Given the description of an element on the screen output the (x, y) to click on. 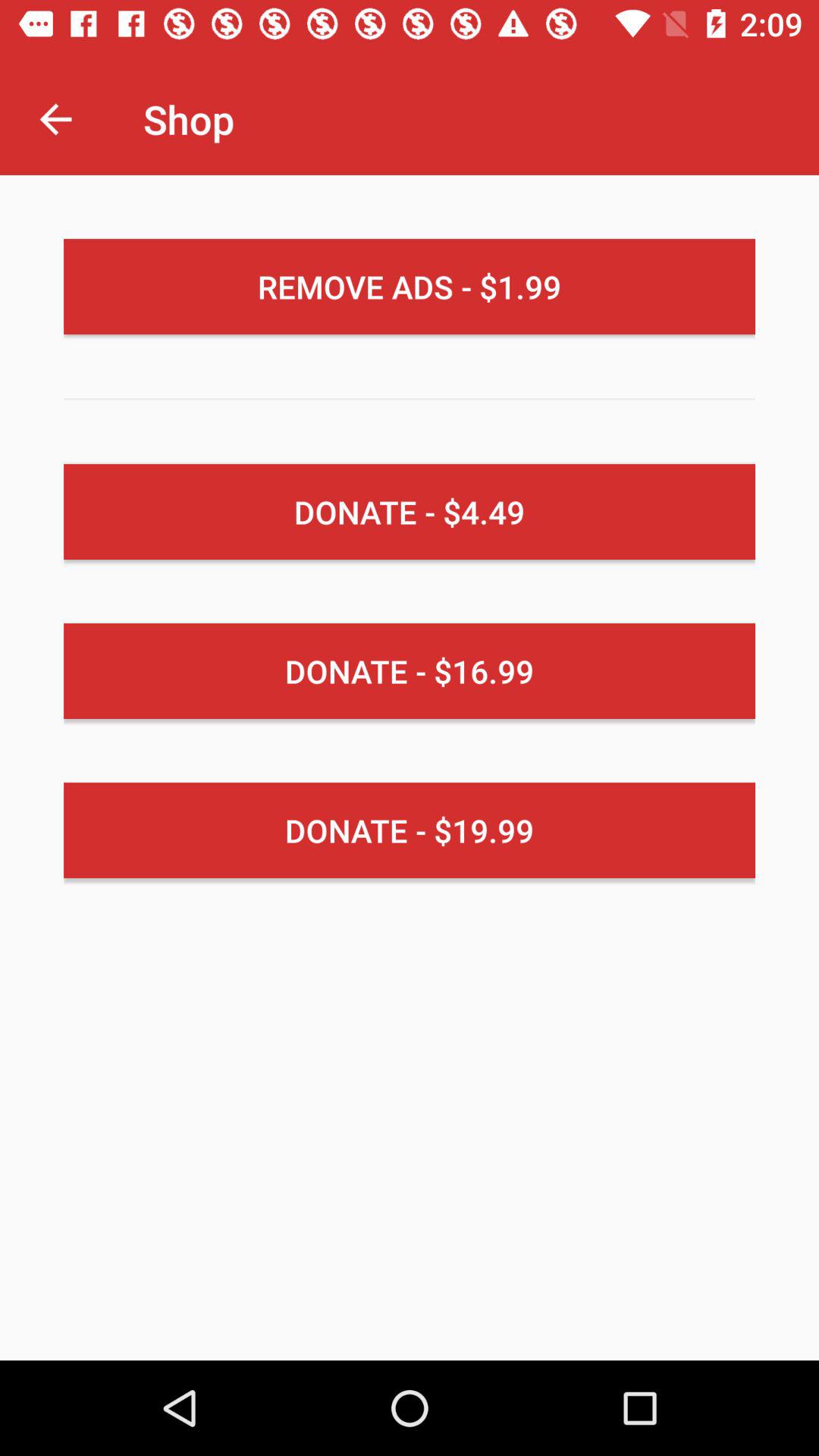
turn off item above the remove ads 1 (55, 119)
